Given the description of an element on the screen output the (x, y) to click on. 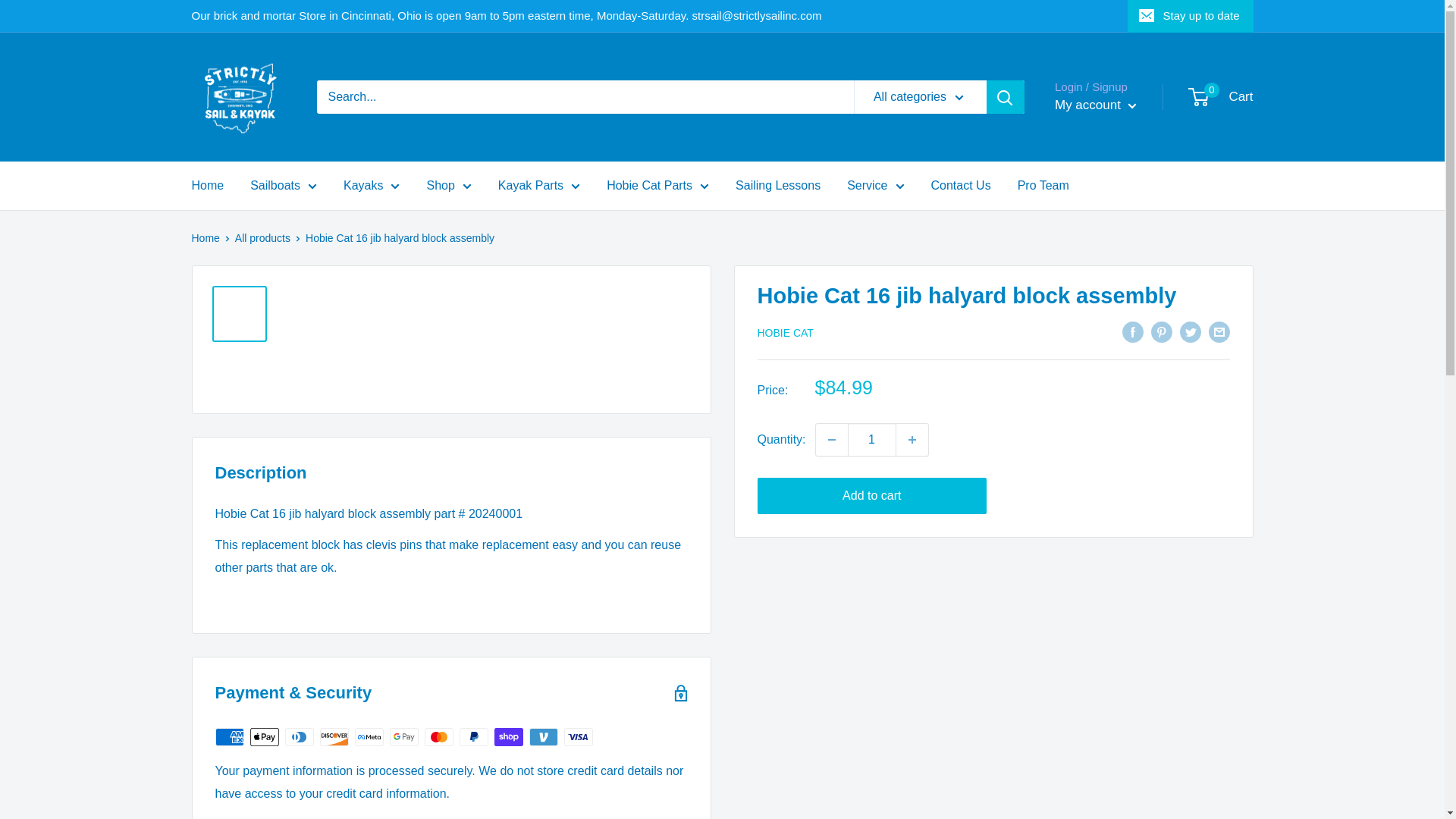
Stay up to date (1189, 15)
Decrease quantity by 1 (831, 439)
1 (871, 439)
Increase quantity by 1 (912, 439)
